Given the description of an element on the screen output the (x, y) to click on. 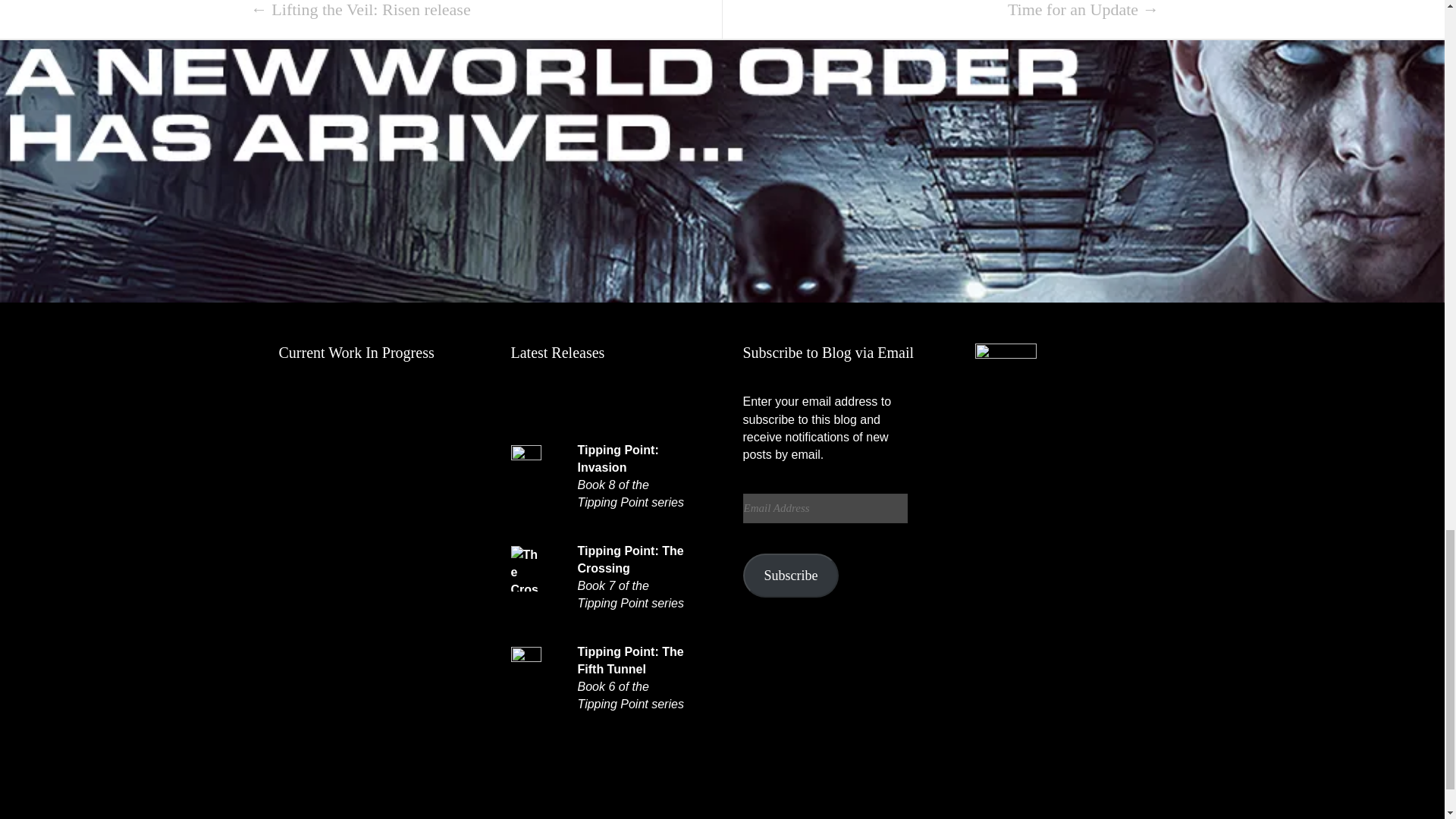
Subscribe (791, 575)
